Given the description of an element on the screen output the (x, y) to click on. 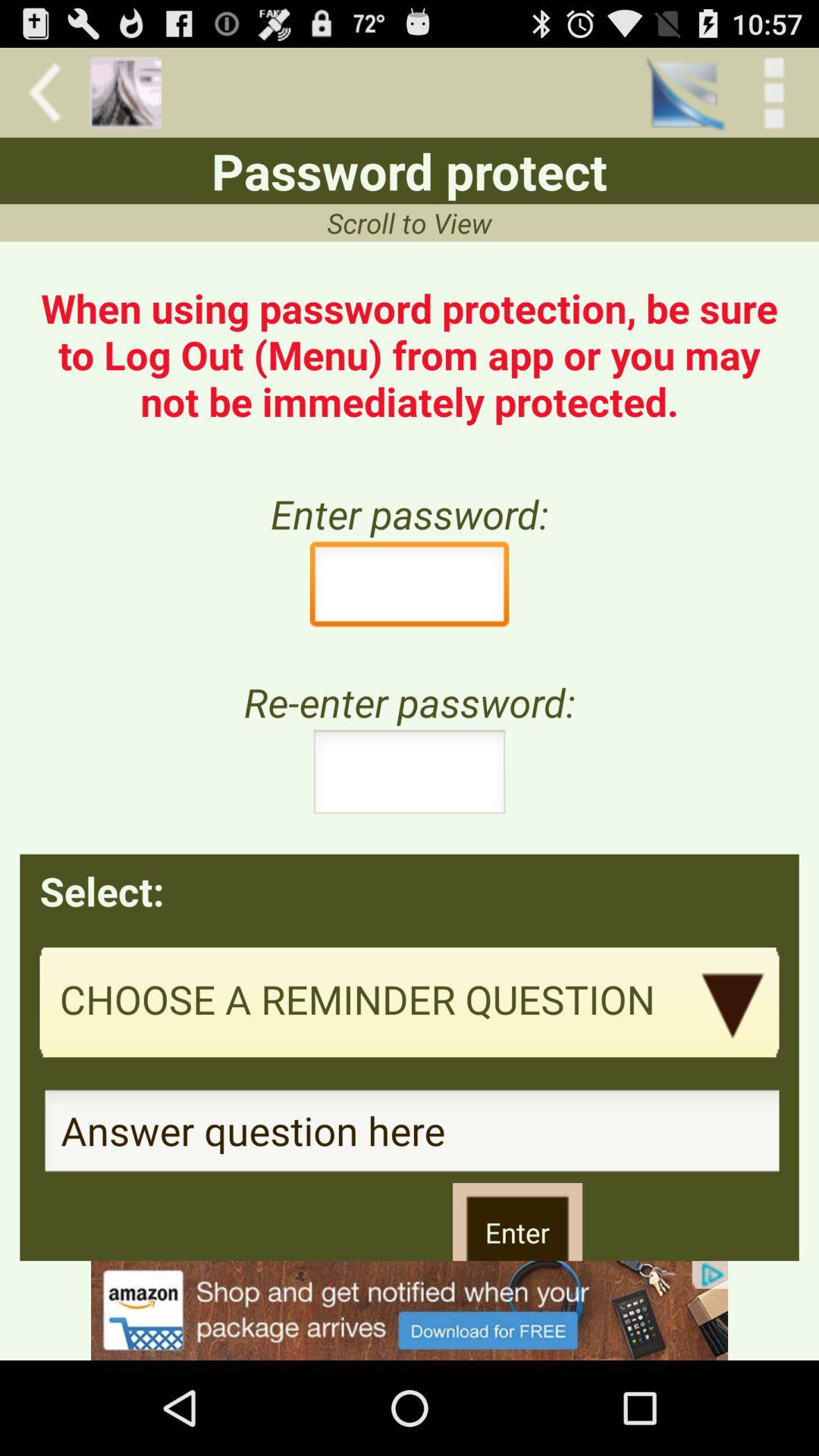
click enter password text field (409, 588)
